Given the description of an element on the screen output the (x, y) to click on. 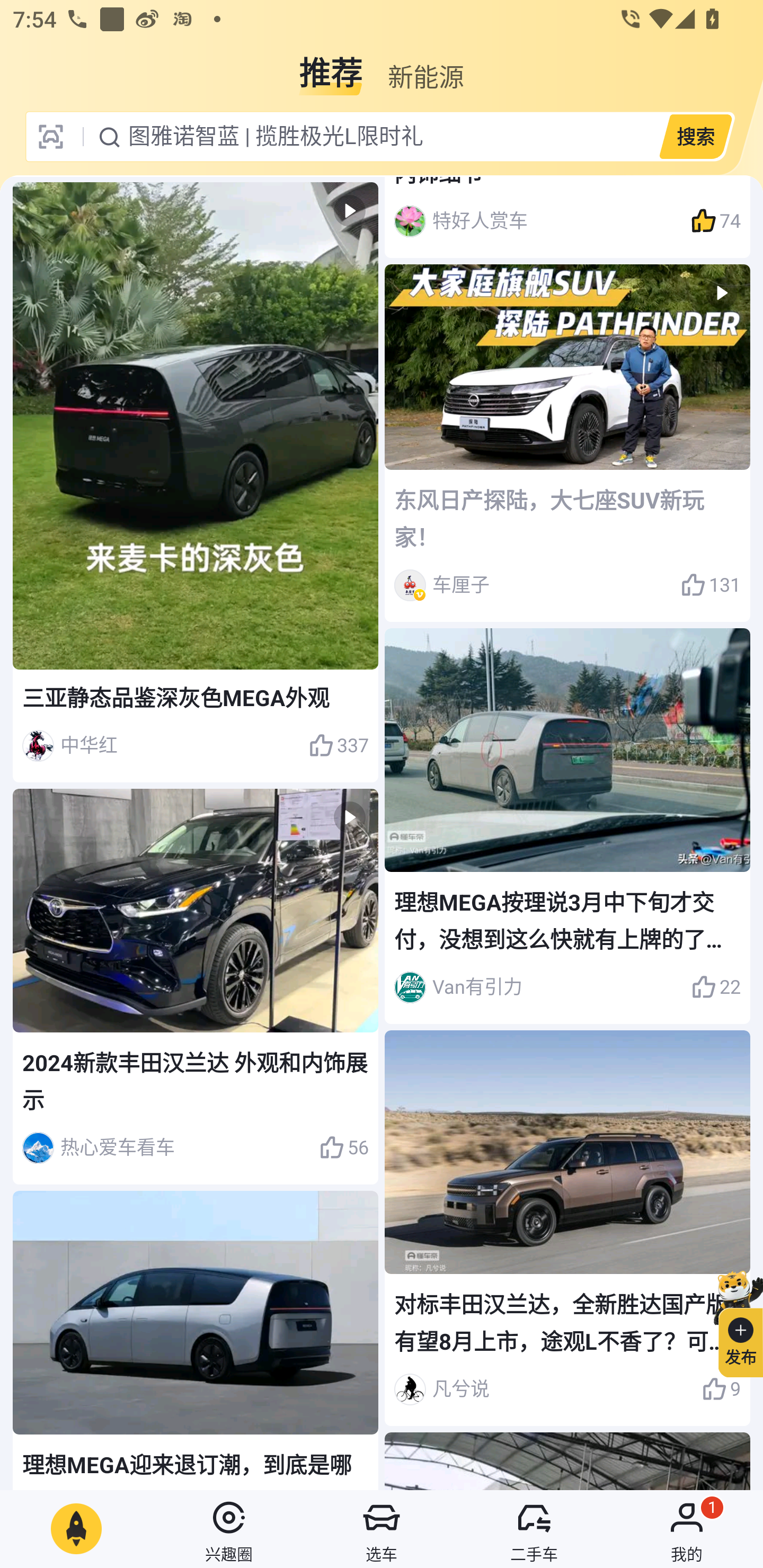
推荐 (330, 65)
新能源 (425, 65)
搜索 (695, 136)
 三亚静态品鉴深灰色MEGA外观 中华红 337 (195, 481)
74 (715, 220)
 东风日产探陆，大七座SUV新玩家！ 车厘子 131 (567, 443)
131 (710, 585)
337 (338, 745)
 2024新款丰田汉兰达 外观和内饰展示 热心爱车看车 56 (195, 985)
22 (715, 987)
56 (343, 1147)
理想MEGA迎来退订潮，到底是哪出了问题？ (195, 1339)
发布 (732, 1321)
9 (720, 1388)
 兴趣圈 (228, 1528)
 选车 (381, 1528)
 二手车 (533, 1528)
 我的 (686, 1528)
